Given the description of an element on the screen output the (x, y) to click on. 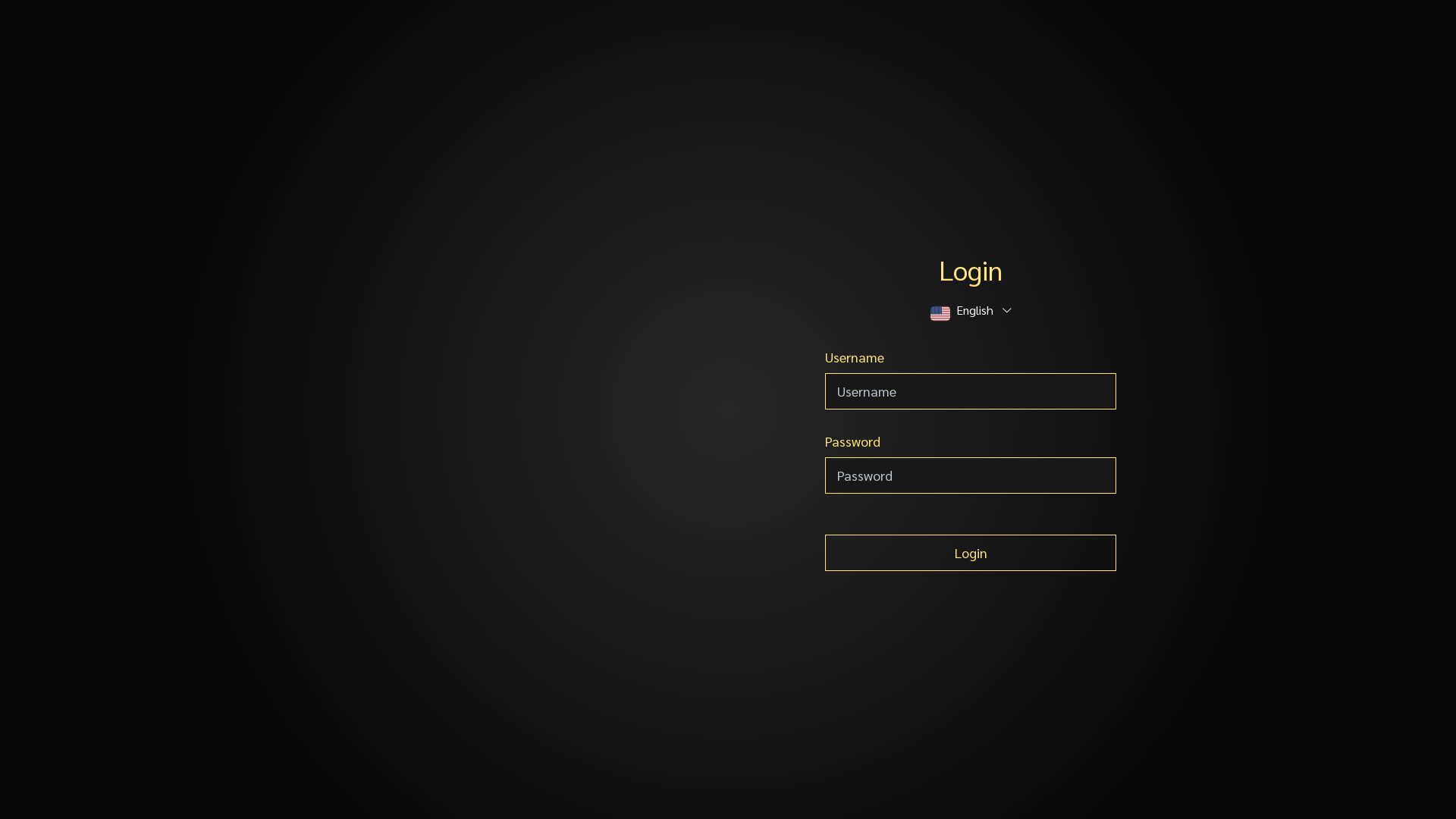
Login Element type: text (970, 551)
